Given the description of an element on the screen output the (x, y) to click on. 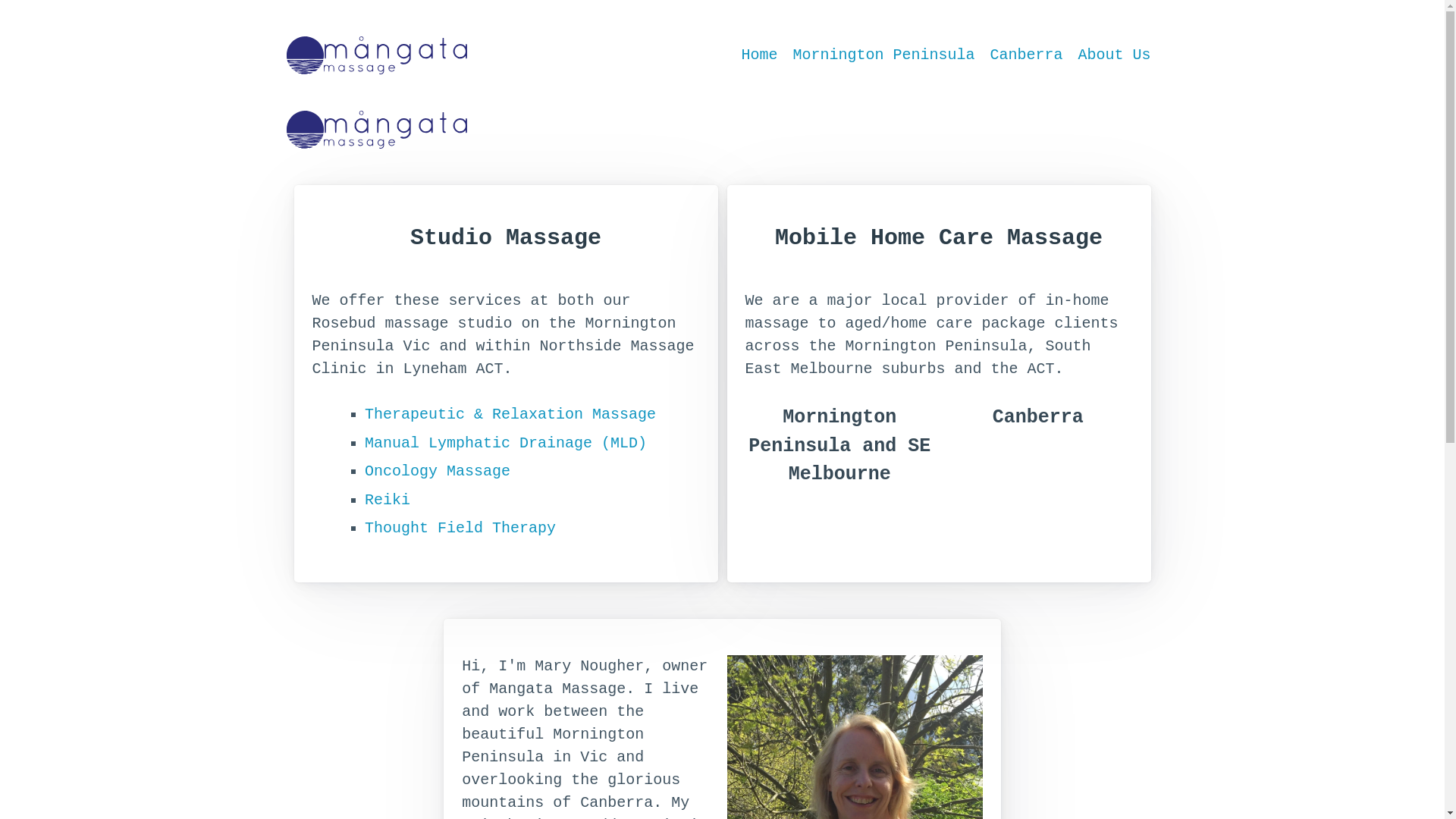
Thought Field Therapy Element type: text (459, 527)
Manual Lymphatic Drainage (MLD) Element type: text (505, 442)
Canberra Element type: text (1026, 55)
Oncology Massage Element type: text (437, 471)
Reiki Element type: text (387, 499)
About Us Element type: text (1113, 55)
Mornington Peninsula and SE Melbourne Element type: text (839, 460)
Mornington Peninsula Element type: text (883, 55)
Therapeutic & Relaxation Massage Element type: text (509, 414)
Home Element type: text (758, 55)
Canberra Element type: text (1037, 460)
